Given the description of an element on the screen output the (x, y) to click on. 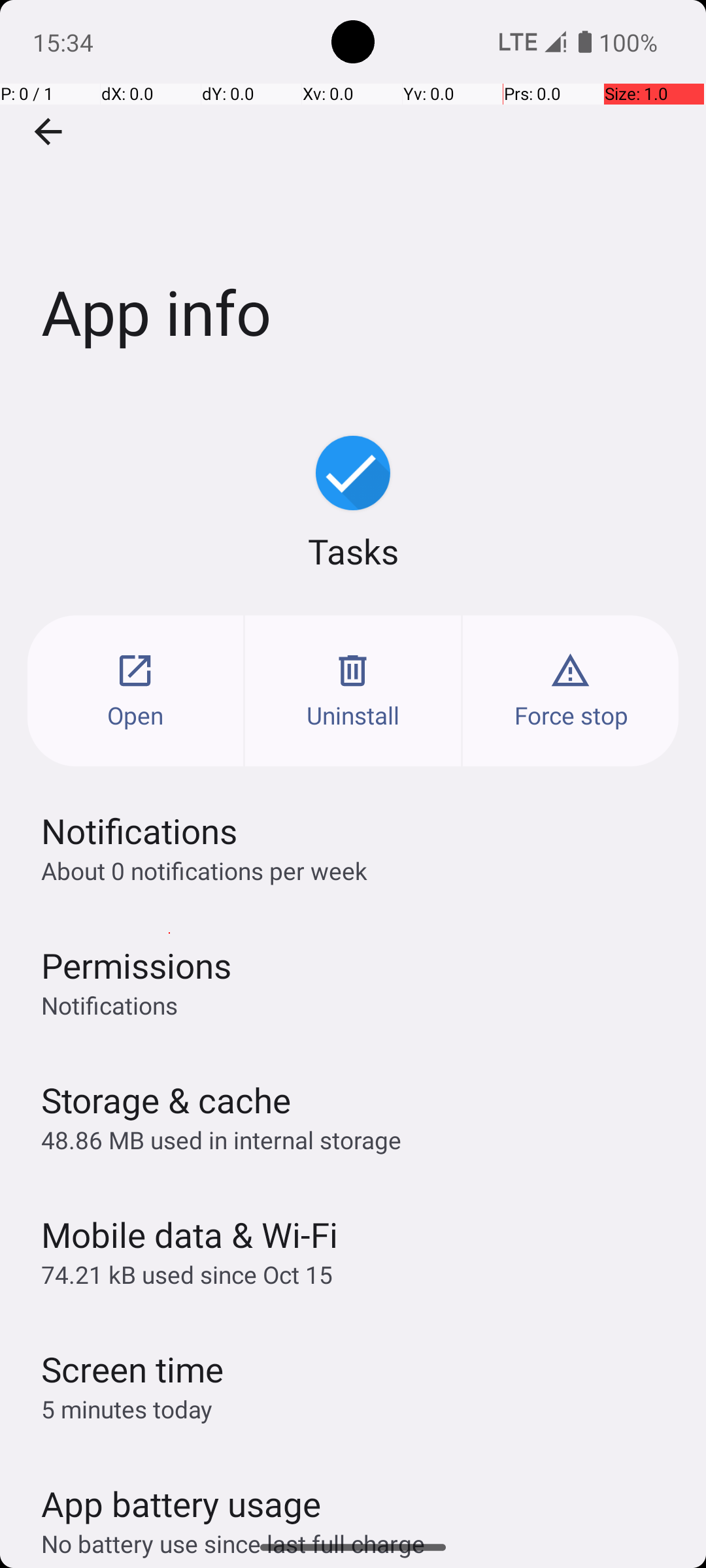
48.86 MB used in internal storage Element type: android.widget.TextView (221, 1139)
74.21 kB used since Oct 15 Element type: android.widget.TextView (186, 1273)
5 minutes today Element type: android.widget.TextView (127, 1408)
